Given the description of an element on the screen output the (x, y) to click on. 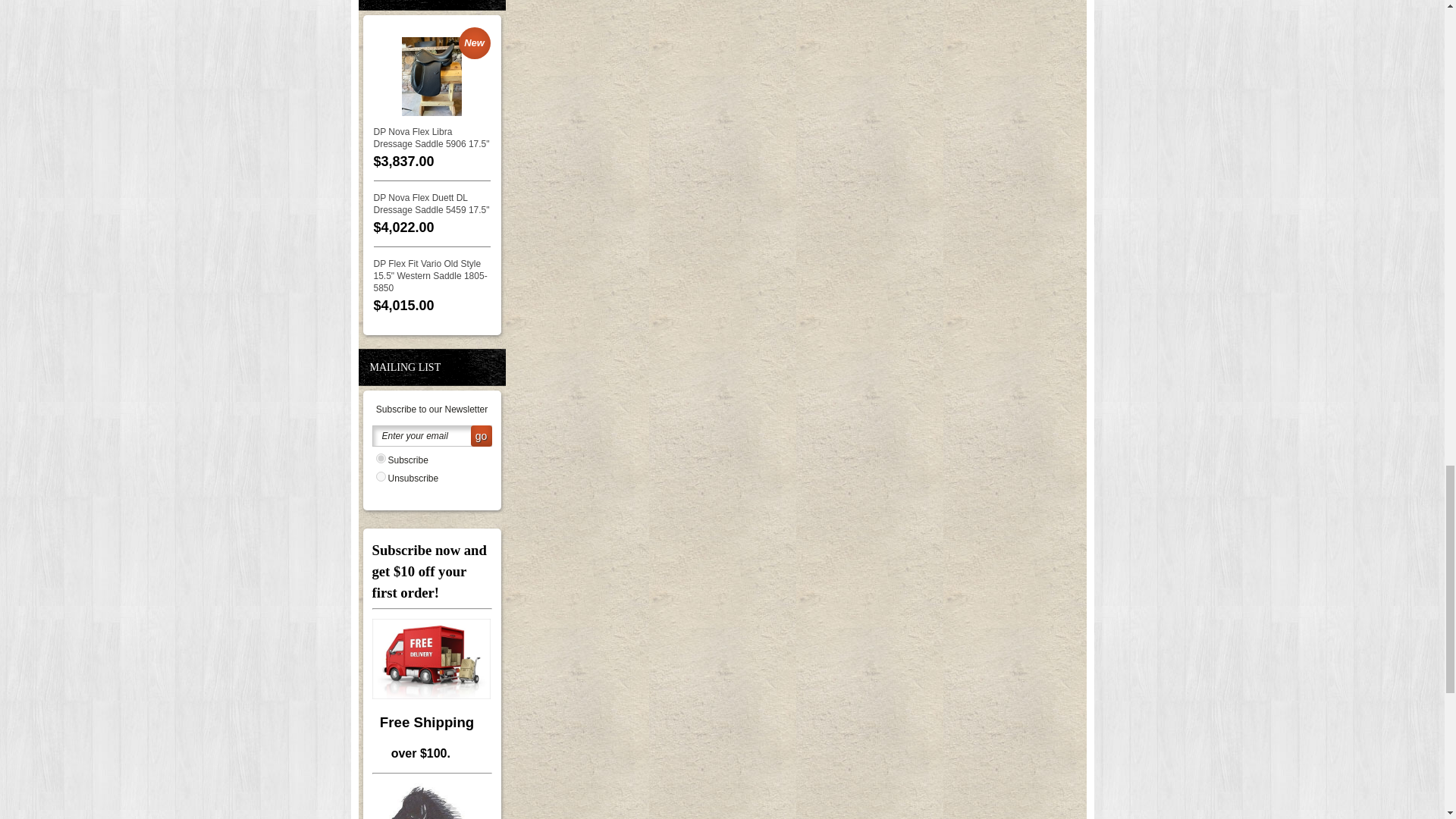
0 (380, 476)
Enter your email (431, 435)
go (481, 435)
1 (380, 458)
